Given the description of an element on the screen output the (x, y) to click on. 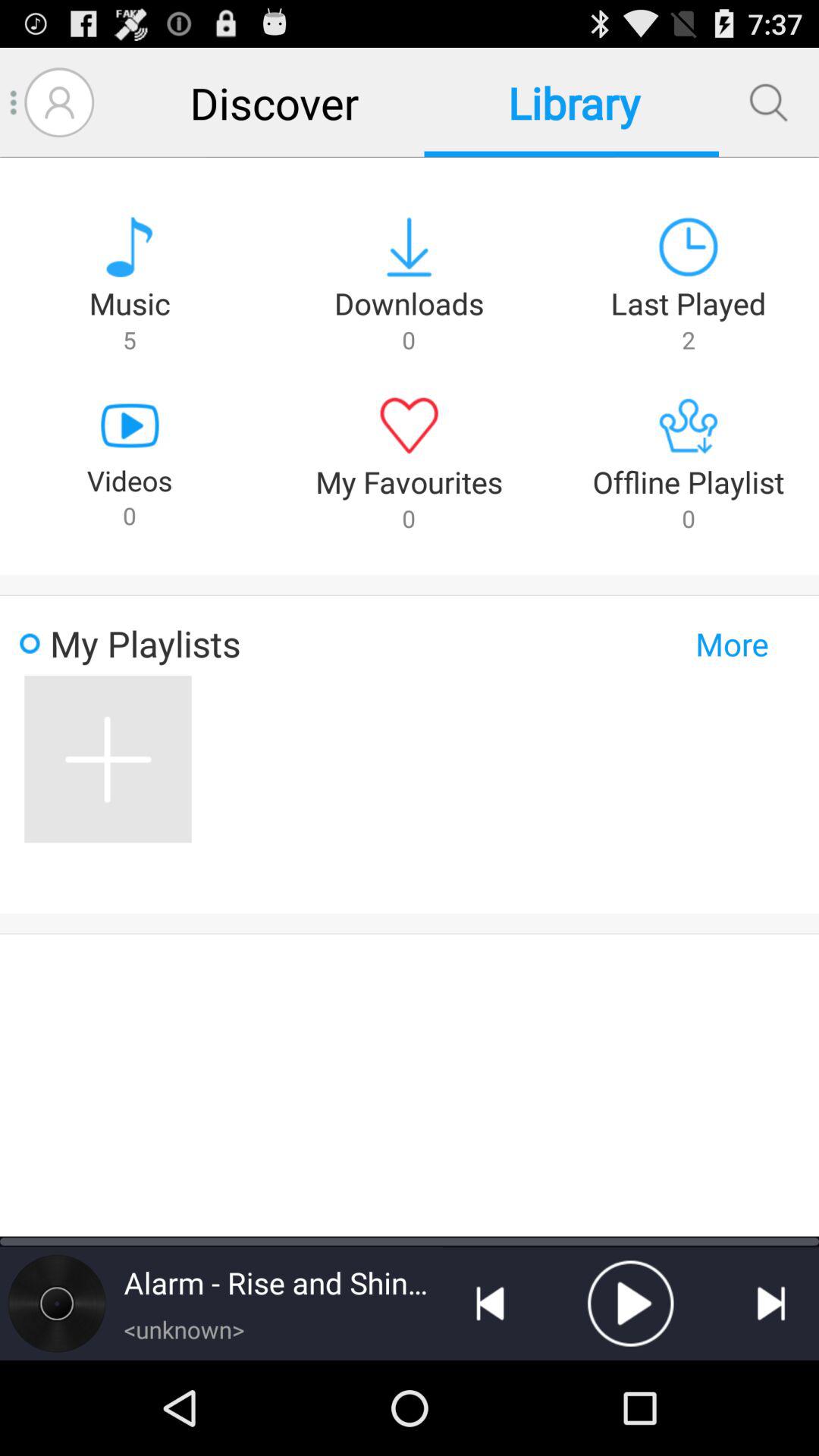
flip to the library item (571, 102)
